Given the description of an element on the screen output the (x, y) to click on. 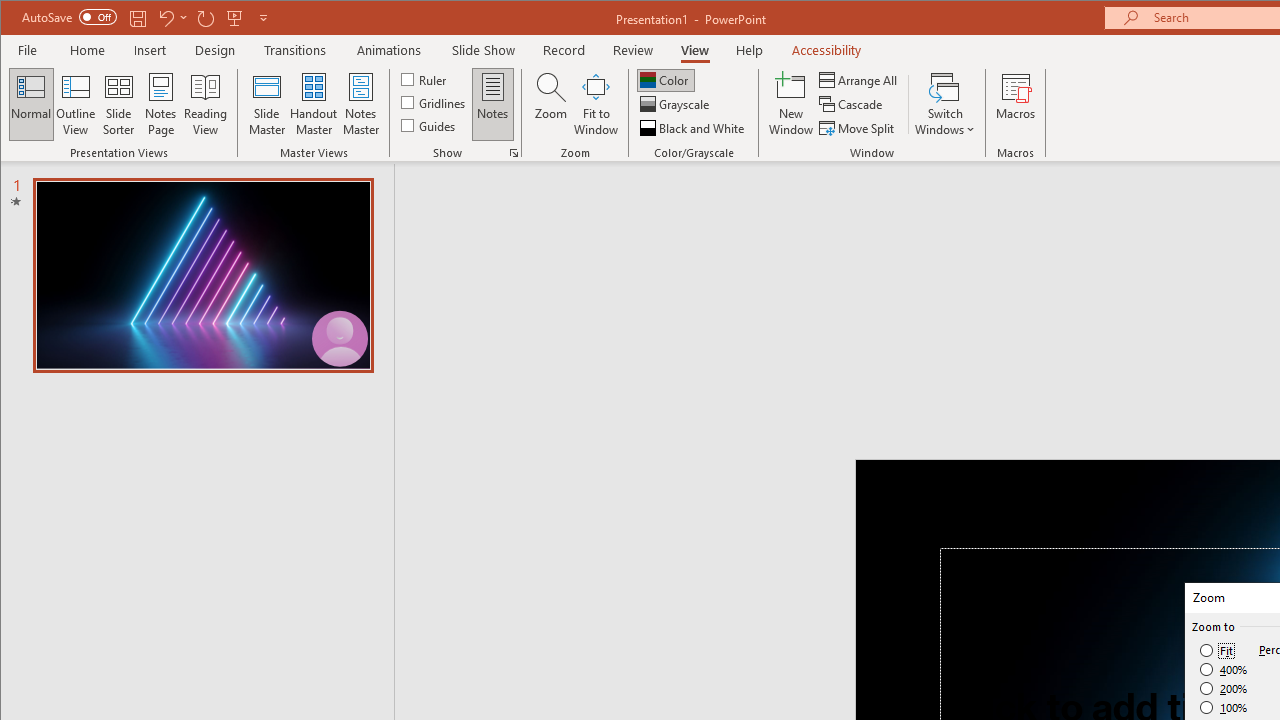
Gridlines (435, 101)
Zoom... (550, 104)
Notes Page (160, 104)
Cascade (852, 103)
Grayscale (676, 103)
400% (1224, 669)
100% (1224, 707)
